Given the description of an element on the screen output the (x, y) to click on. 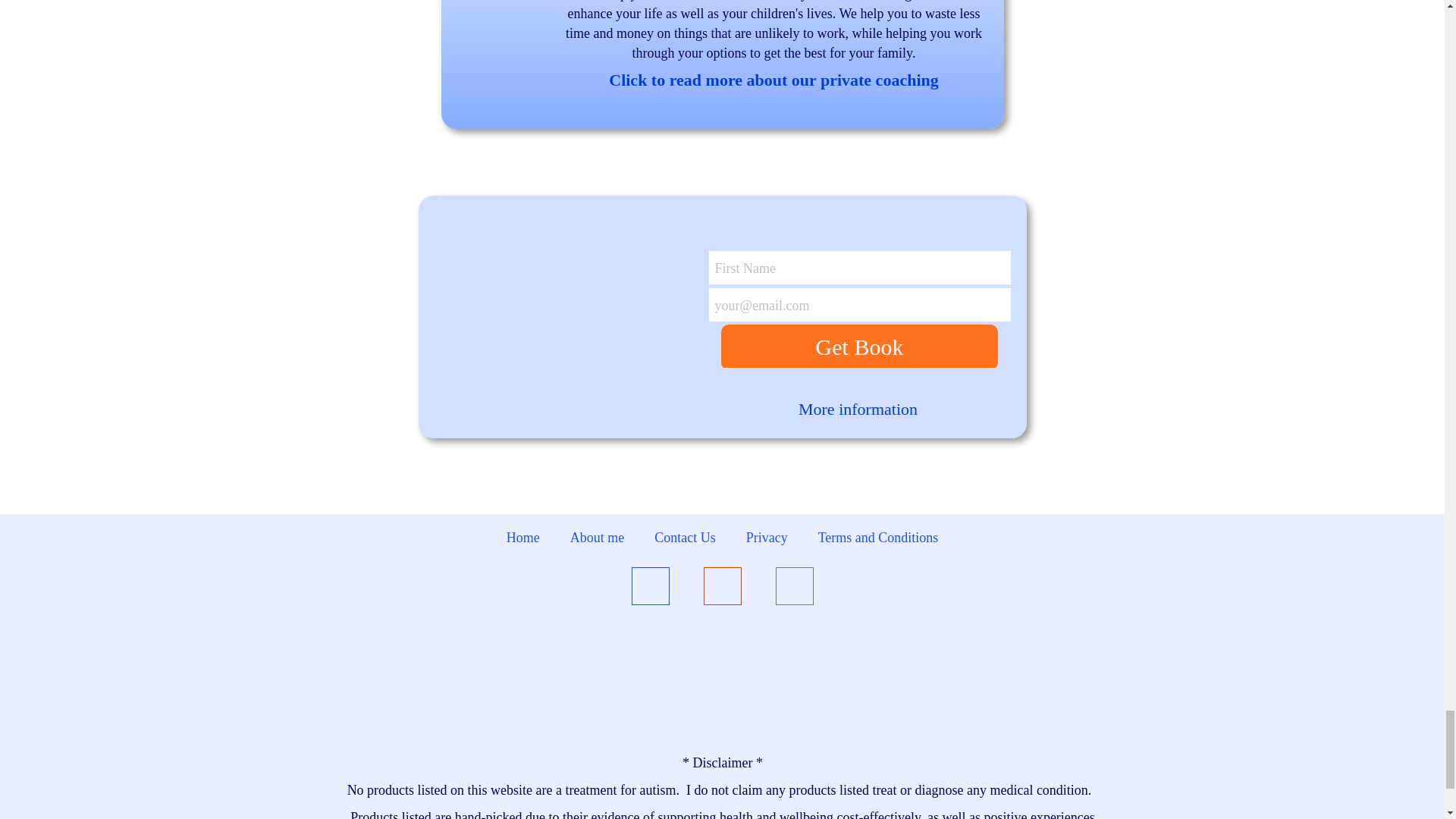
Natural Autism Support on Twitter (794, 589)
Natural Autism Support on Instagram (722, 589)
Facebook (650, 589)
